Given the description of an element on the screen output the (x, y) to click on. 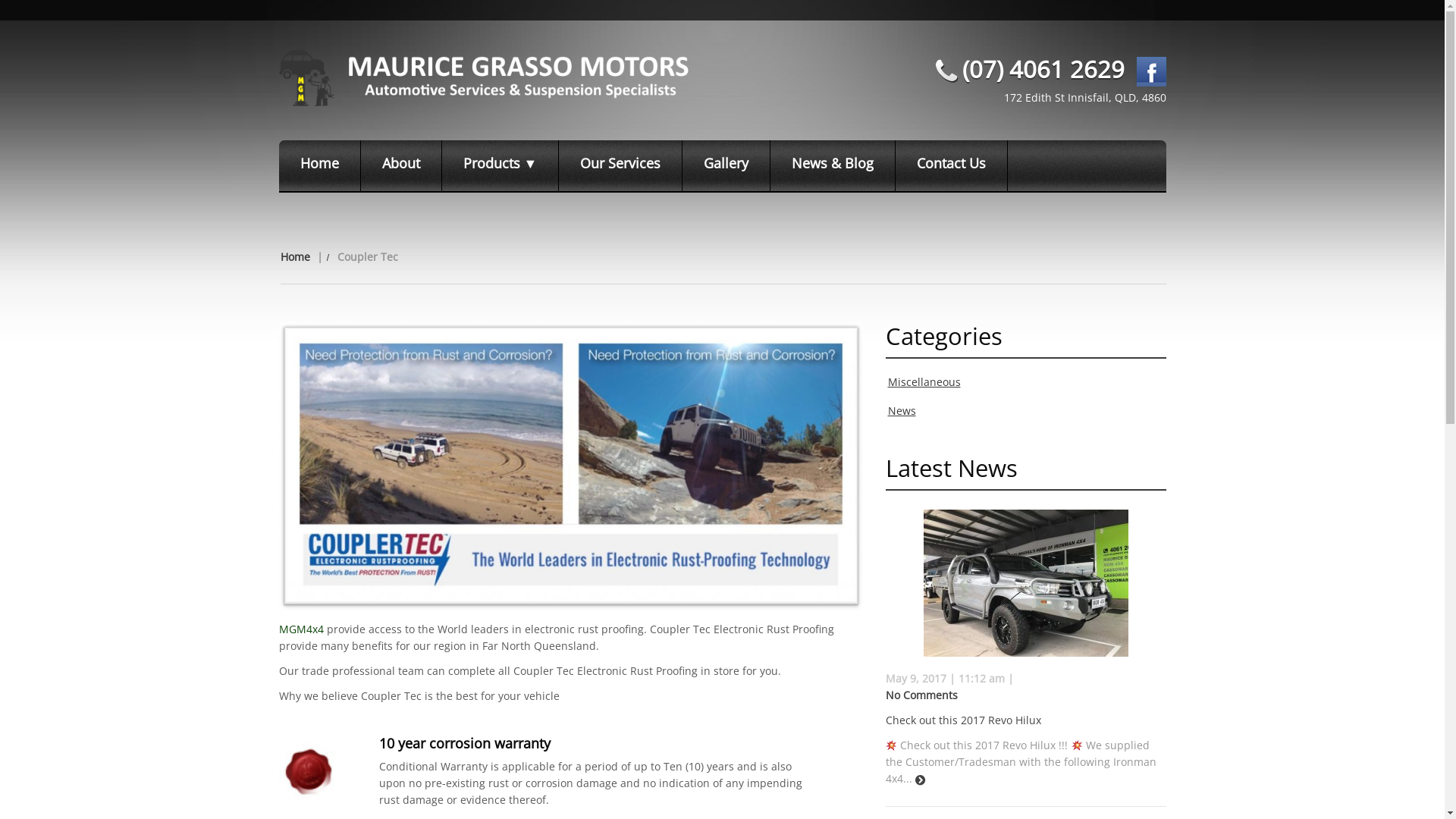
Home Element type: text (295, 256)
News Element type: text (901, 410)
About Element type: text (401, 165)
> Element type: text (919, 780)
Our Services Element type: text (620, 165)
Miscellaneous Element type: text (923, 381)
News & Blog Element type: text (832, 165)
MGM4x4 Element type: text (301, 628)
Check out this 2017 Revo Hilux Element type: text (963, 719)
Contact Us Element type: text (951, 165)
Gallery Element type: text (726, 165)
Home Element type: text (319, 165)
